Given the description of an element on the screen output the (x, y) to click on. 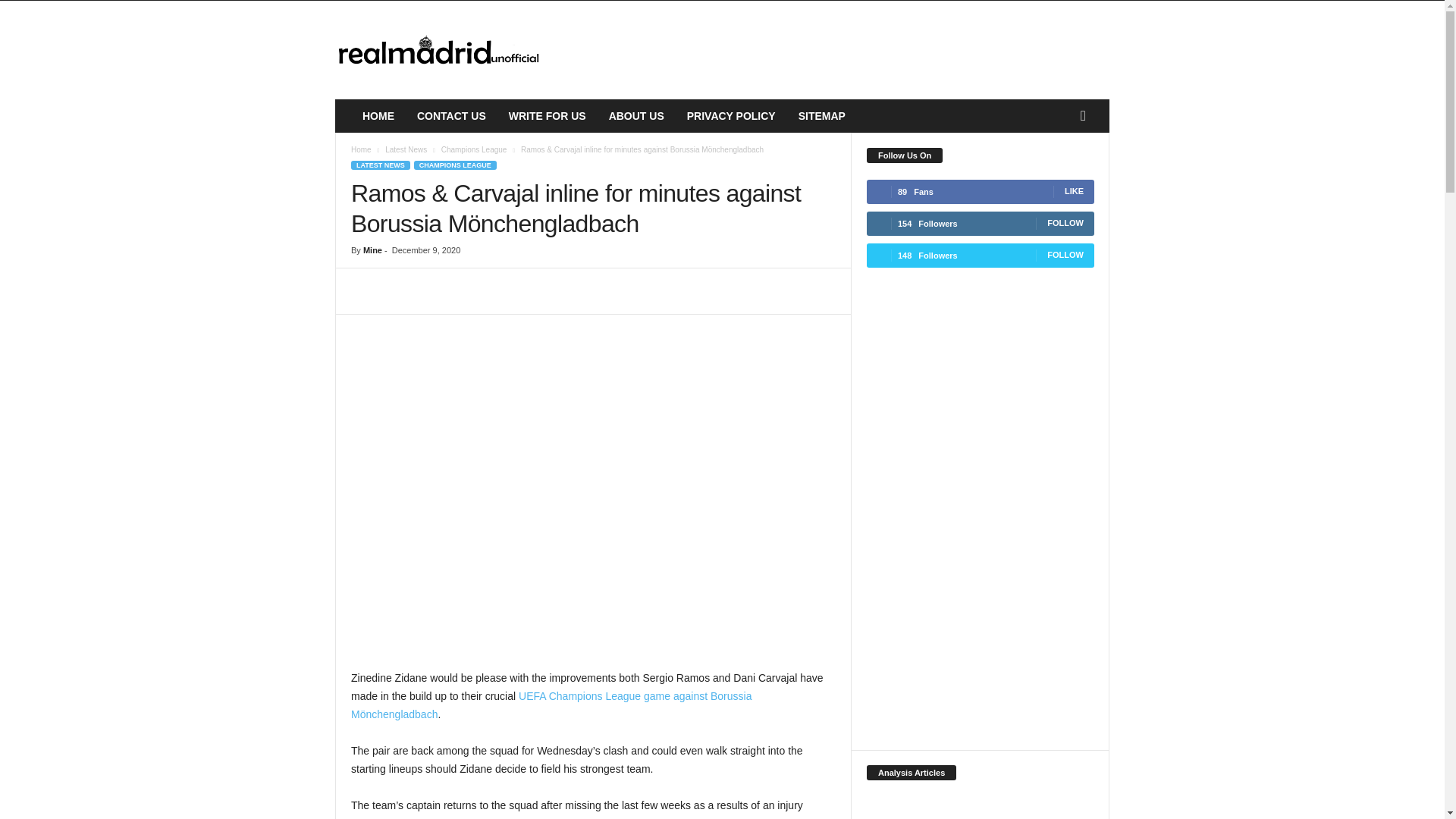
ABOUT US (635, 115)
WRITE FOR US (546, 115)
Champions League (473, 149)
PRIVACY POLICY (731, 115)
Home (360, 149)
CHAMPIONS LEAGUE (454, 164)
SITEMAP (822, 115)
Real Madrid Unofficial (437, 49)
View all posts in Latest News (405, 149)
CONTACT US (451, 115)
